Given the description of an element on the screen output the (x, y) to click on. 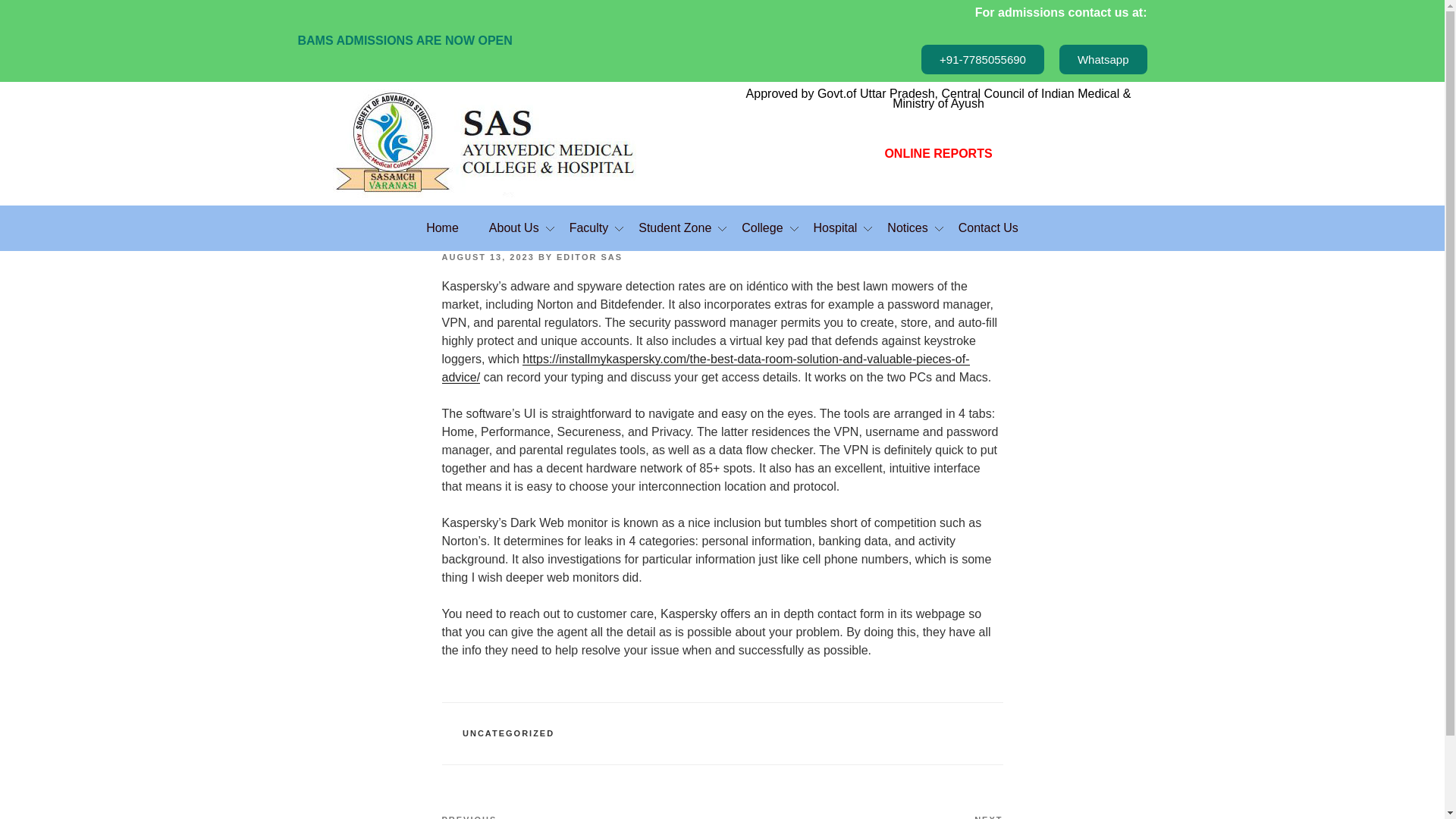
Whatsapp (1103, 59)
ONLINE REPORTS (937, 153)
About Us (514, 227)
Student Zone (674, 227)
Home (442, 227)
Faculty (589, 227)
